Given the description of an element on the screen output the (x, y) to click on. 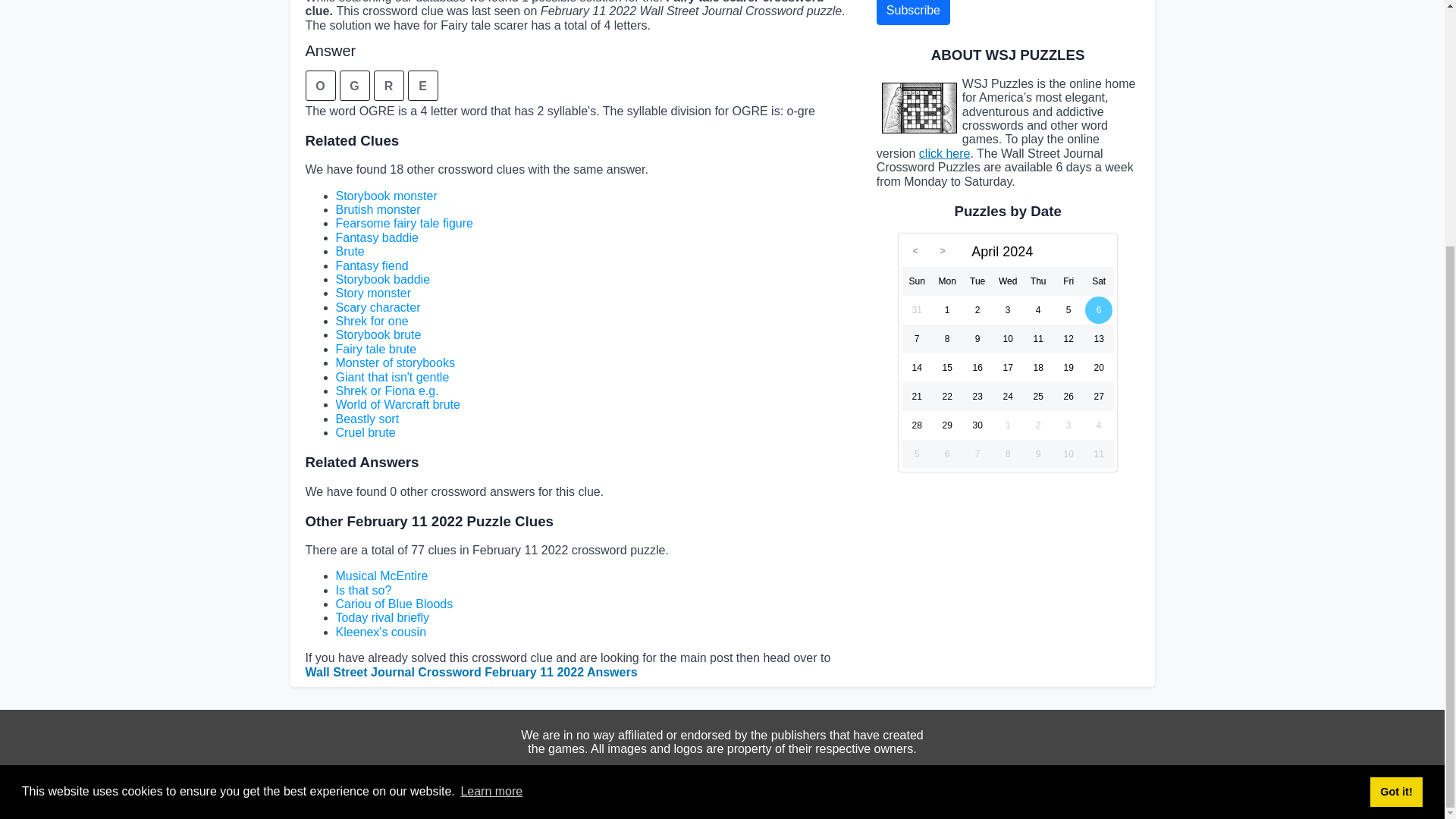
Beastly sort (366, 418)
World of Warcraft brute (397, 404)
Cariou of Blue Bloods (393, 603)
Cruel brute (364, 431)
Sitemap (689, 792)
Storybook baddie (381, 278)
Today rival briefly (381, 617)
Home (632, 792)
Shrek or Fiona e.g. (386, 390)
Wall Street Journal Crossword February 11 2022 Answers (470, 671)
Archive (806, 792)
Fantasy fiend (370, 265)
Fairy tale brute (375, 349)
Brutish monster (377, 209)
Giant that isn't gentle (391, 377)
